Given the description of an element on the screen output the (x, y) to click on. 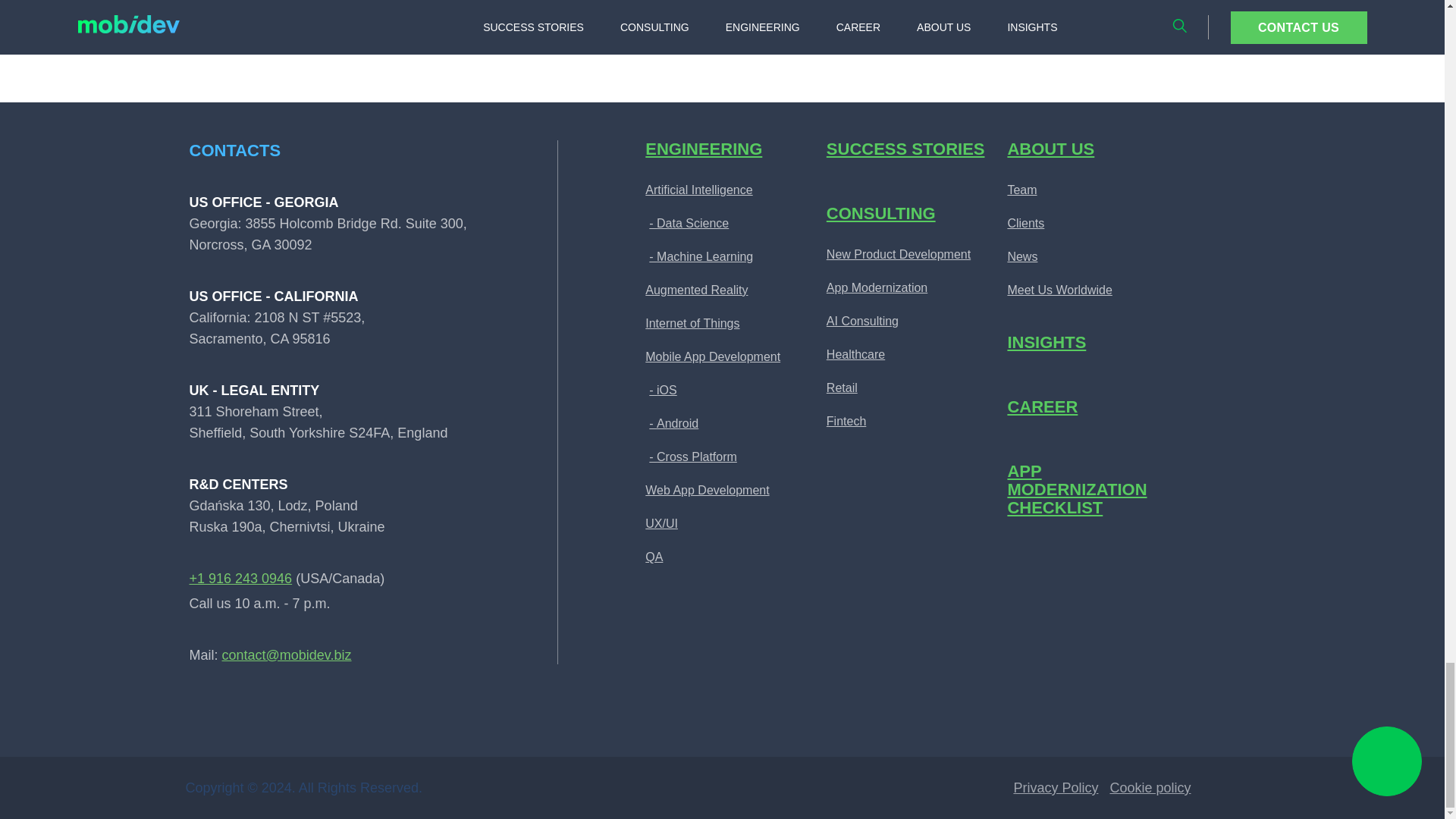
facebook (262, 714)
linkedin (207, 714)
upwork (371, 714)
twitter (316, 714)
clutch (427, 714)
